Given the description of an element on the screen output the (x, y) to click on. 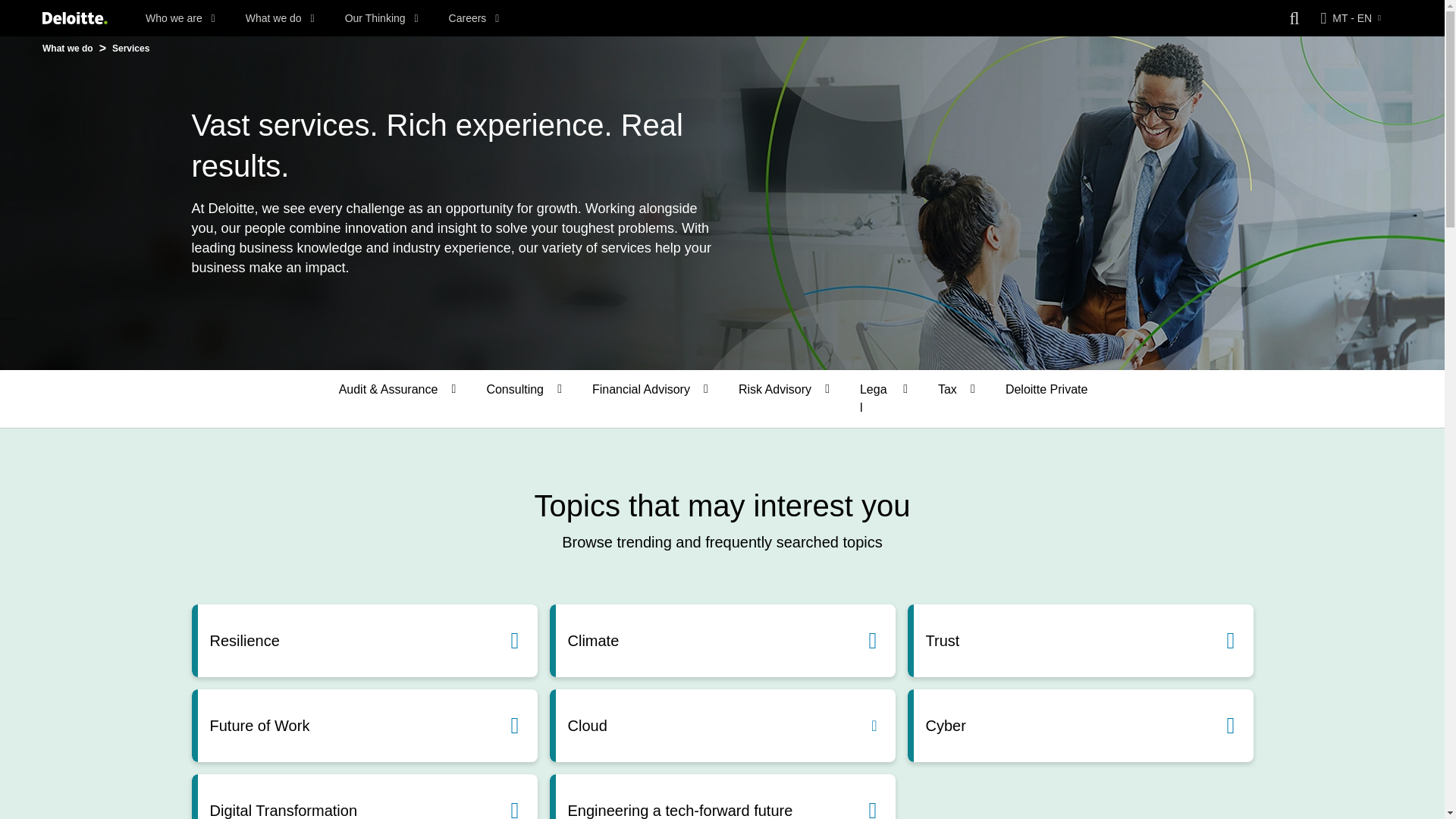
What we do (280, 18)
Who we are (180, 18)
Careers (473, 18)
Our Thinking (382, 18)
Deloitte (74, 18)
